Given the description of an element on the screen output the (x, y) to click on. 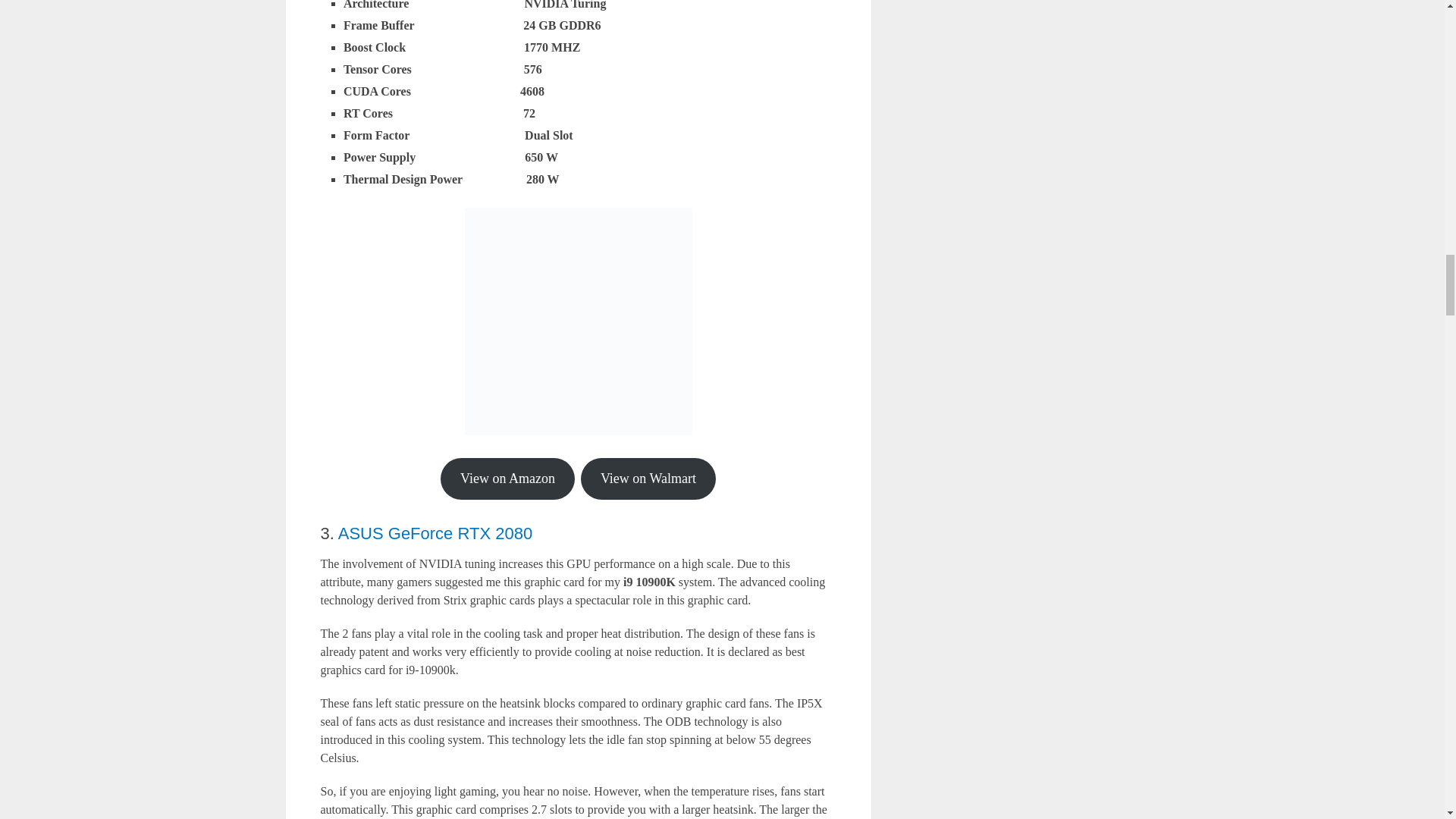
View on Walmart (648, 478)
ASUS GeForce RTX 2080 (434, 533)
View on Amazon (508, 478)
